Given the description of an element on the screen output the (x, y) to click on. 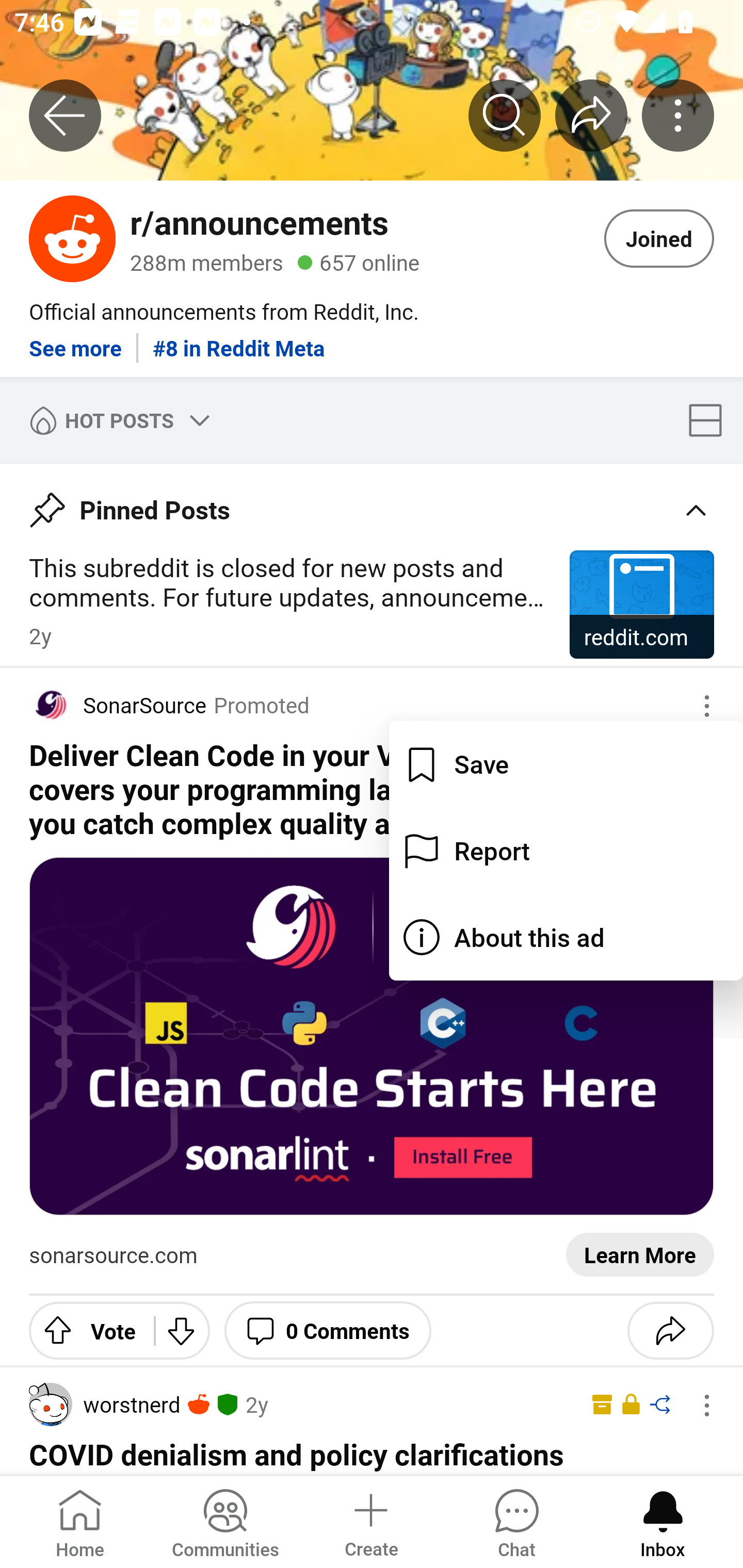
Save (566, 764)
Report (566, 850)
About this ad (566, 936)
